Given the description of an element on the screen output the (x, y) to click on. 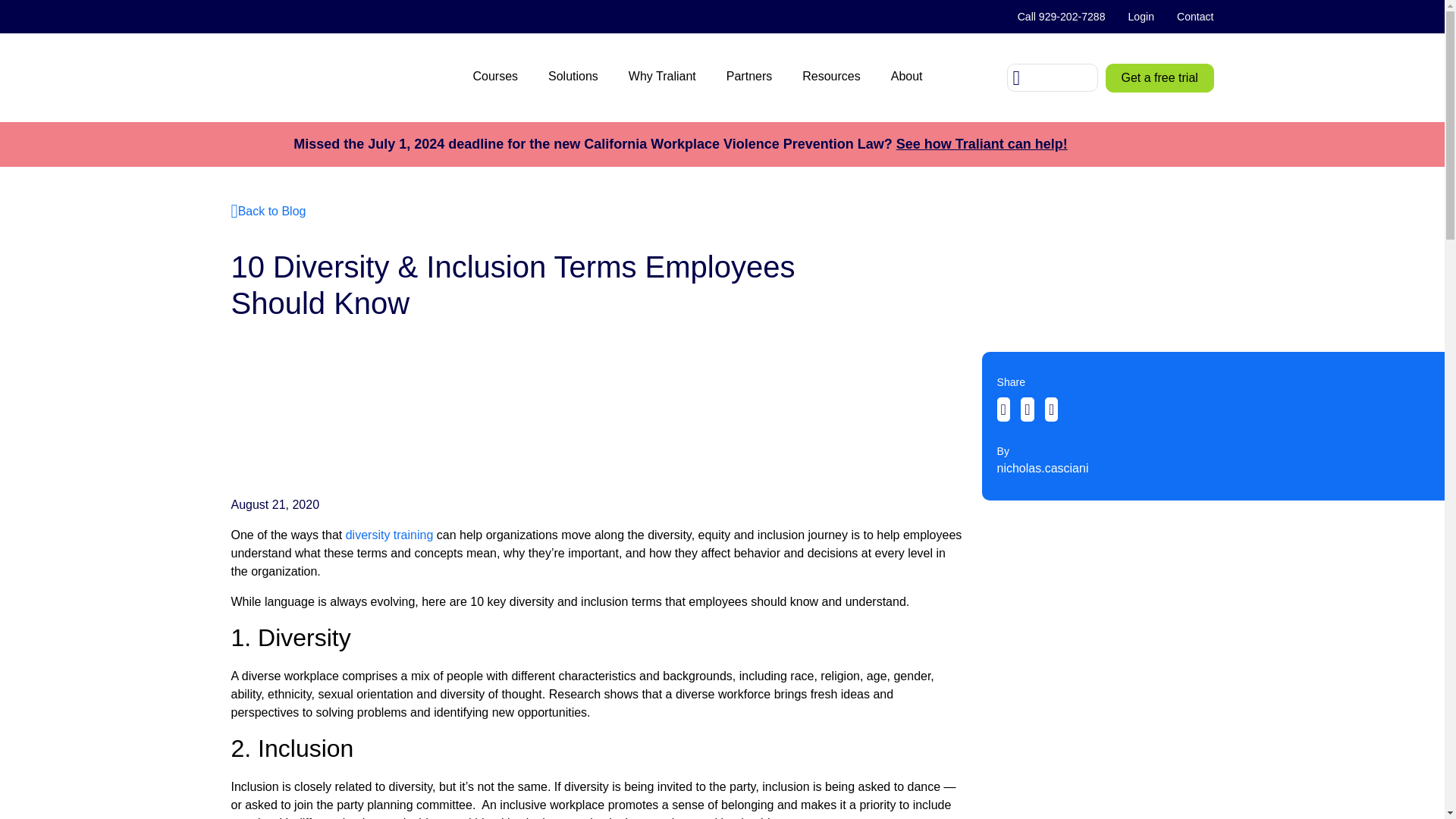
Call 929-202-7288 (1061, 16)
Login (1141, 16)
Contact (1190, 16)
